Given the description of an element on the screen output the (x, y) to click on. 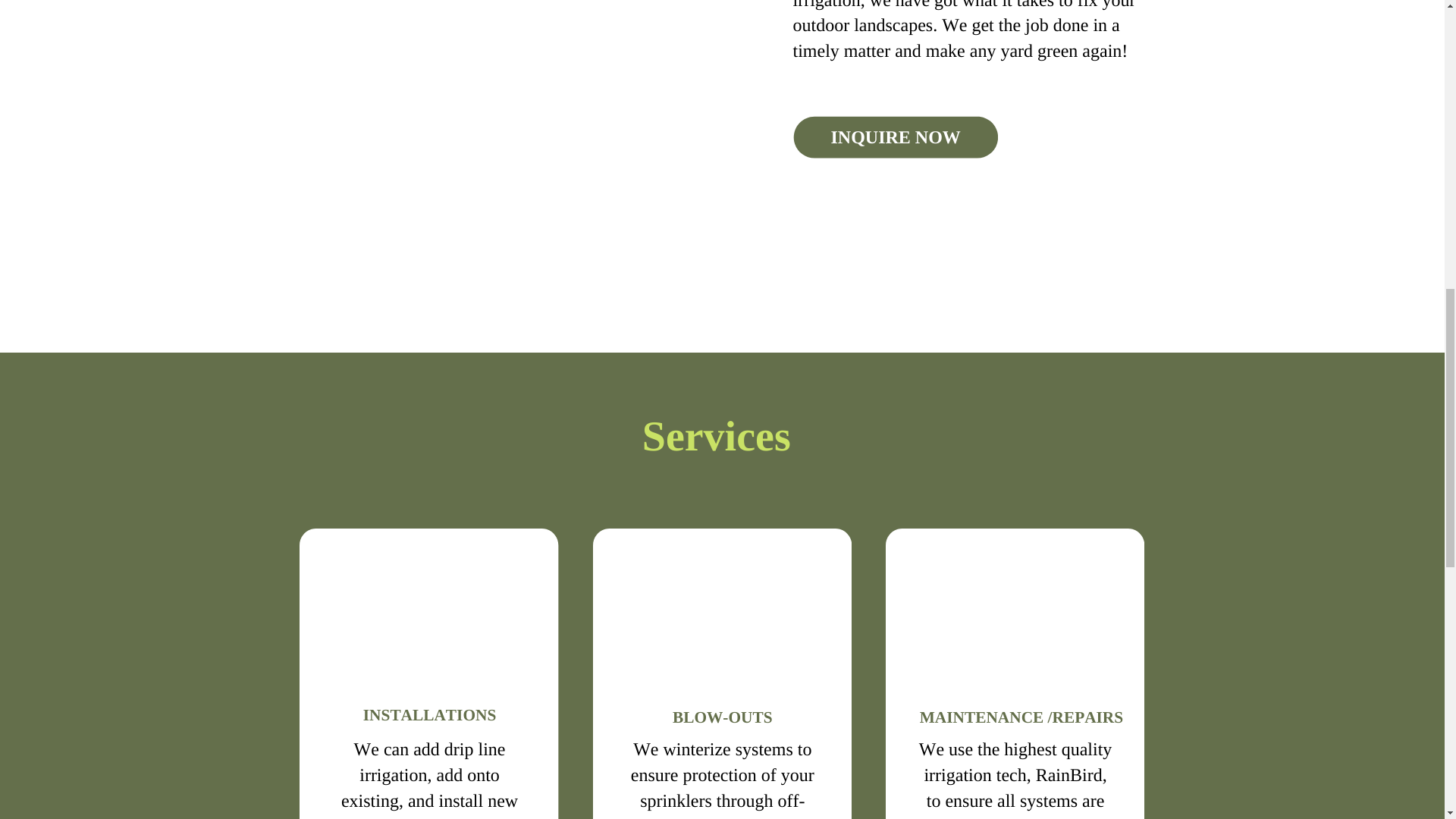
INQUIRE NOW (895, 137)
